Given the description of an element on the screen output the (x, y) to click on. 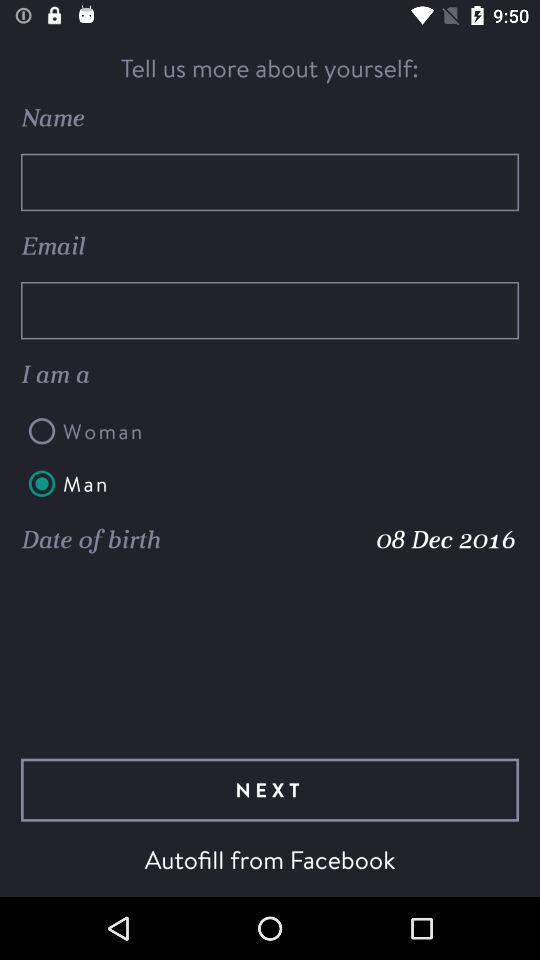
tap icon below the name (269, 182)
